Given the description of an element on the screen output the (x, y) to click on. 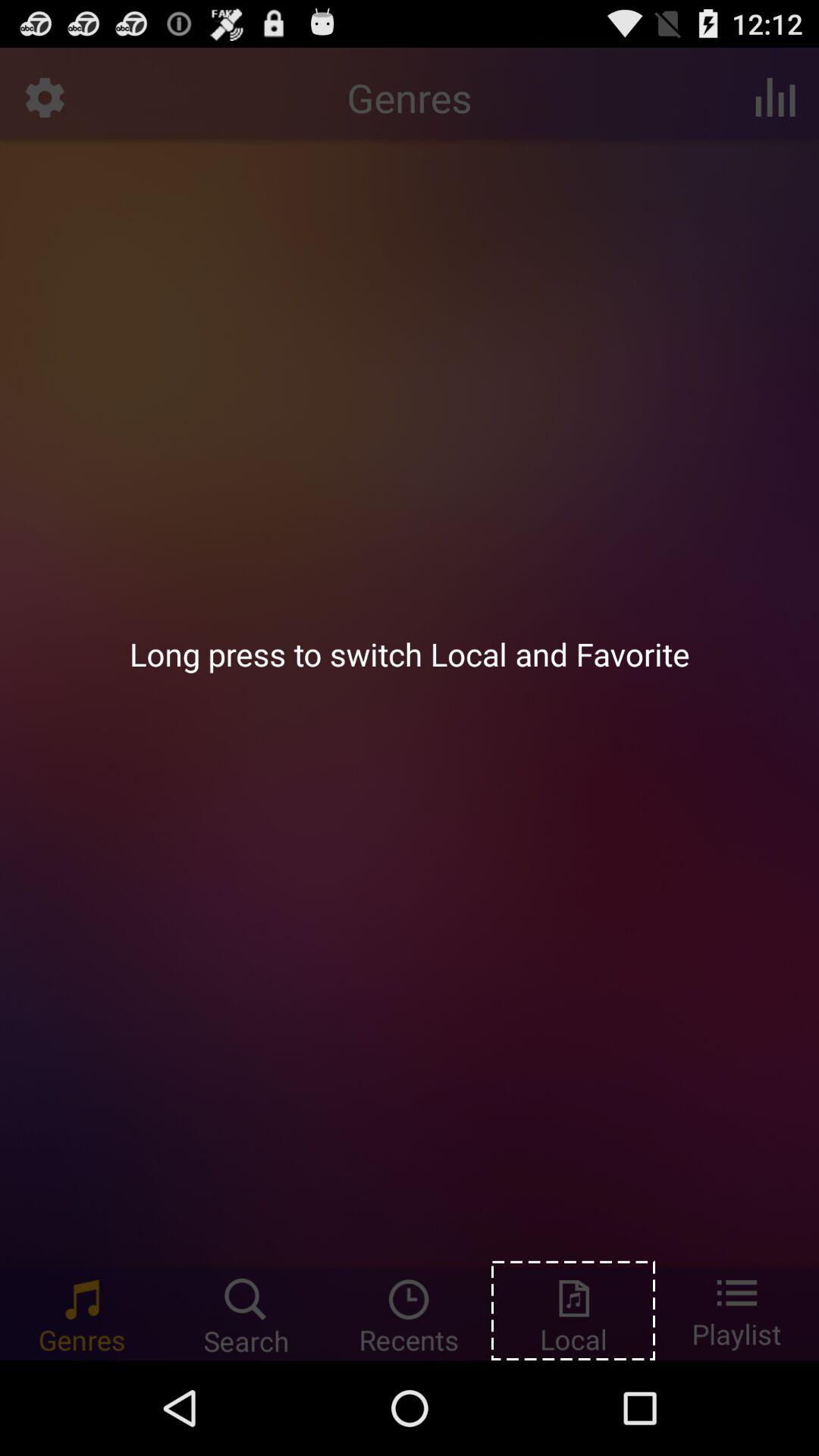
choose the icon next to genres (775, 96)
